Given the description of an element on the screen output the (x, y) to click on. 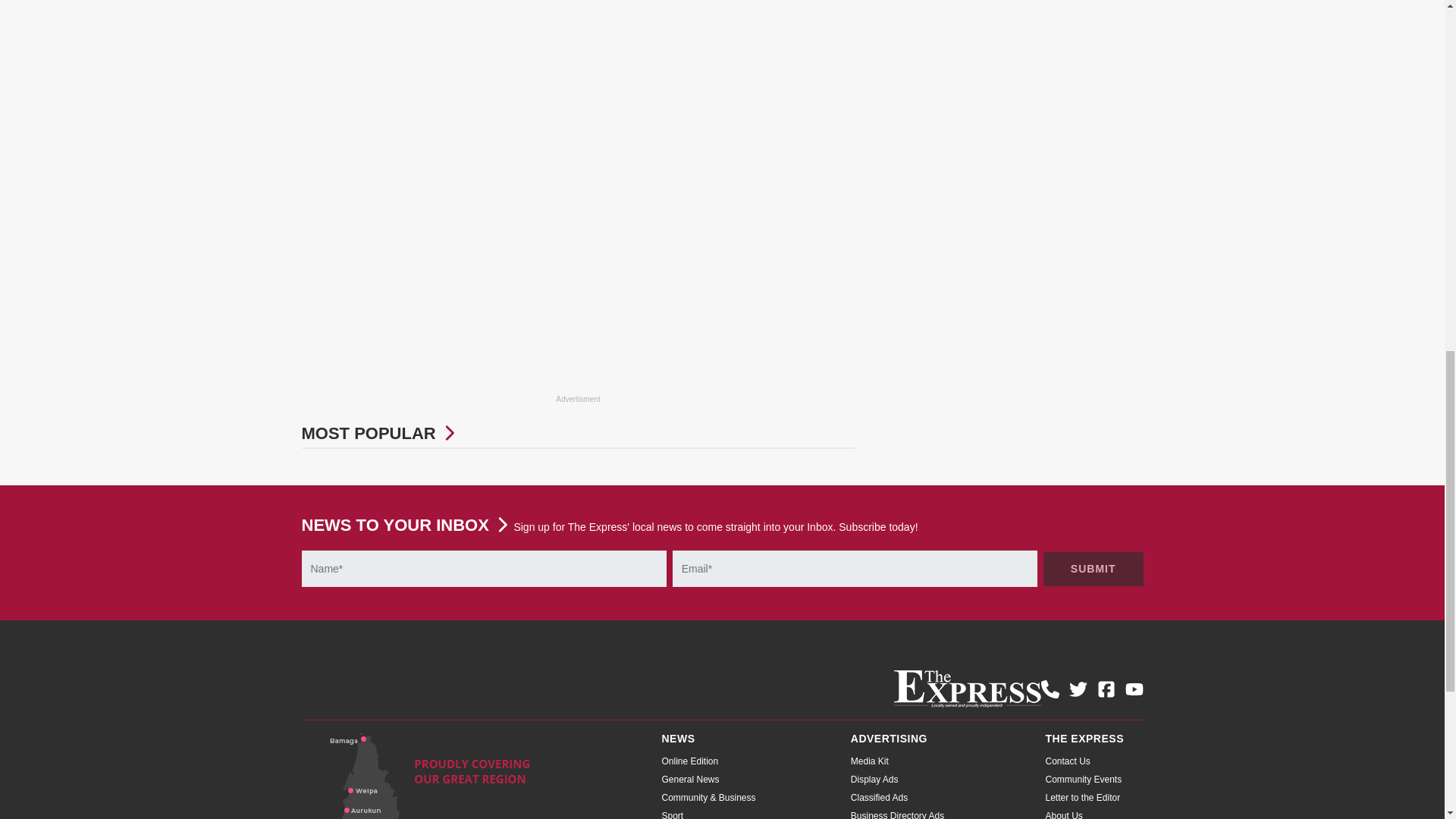
Submit (1092, 569)
Display Ads (874, 778)
Sport (671, 814)
Media Kit (869, 760)
Submit (1092, 569)
Online Edition (689, 760)
General News (690, 778)
